Given the description of an element on the screen output the (x, y) to click on. 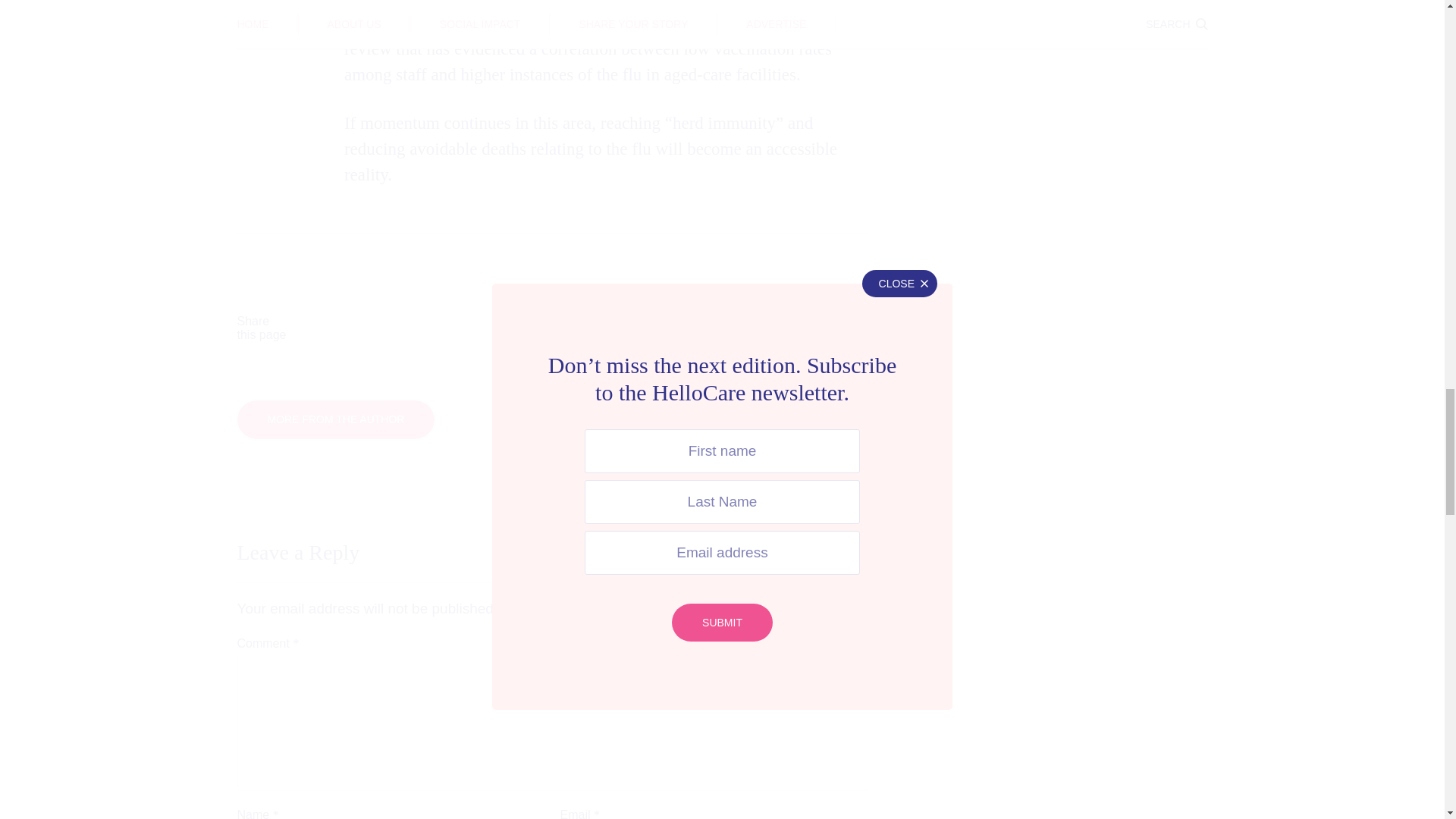
Share on Facebook (372, 327)
Share via Email (792, 327)
Share on Twitter (512, 327)
Share on linkedIn (652, 327)
